Given the description of an element on the screen output the (x, y) to click on. 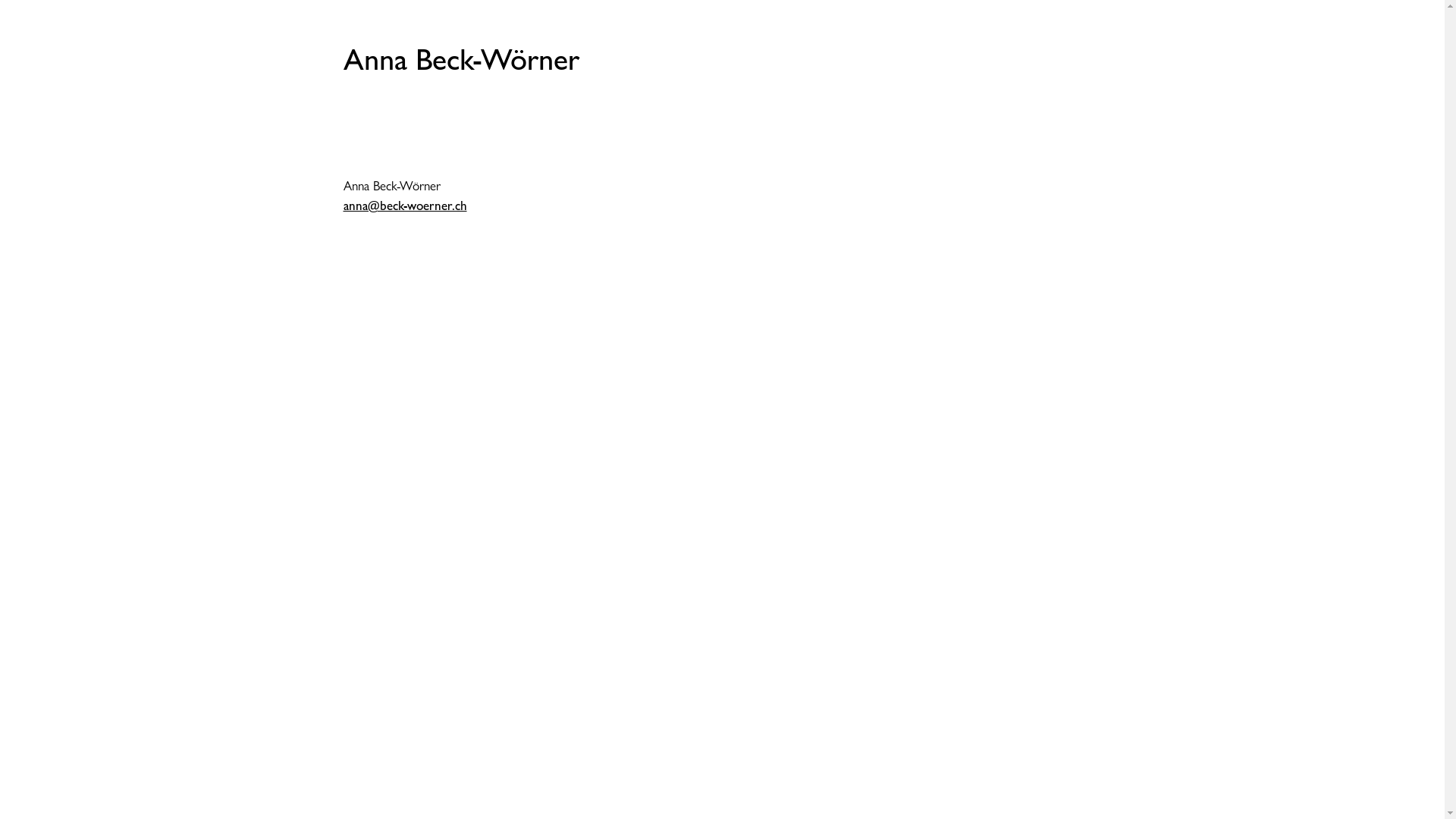
anna@beck-woerner.ch Element type: text (404, 205)
